Given the description of an element on the screen output the (x, y) to click on. 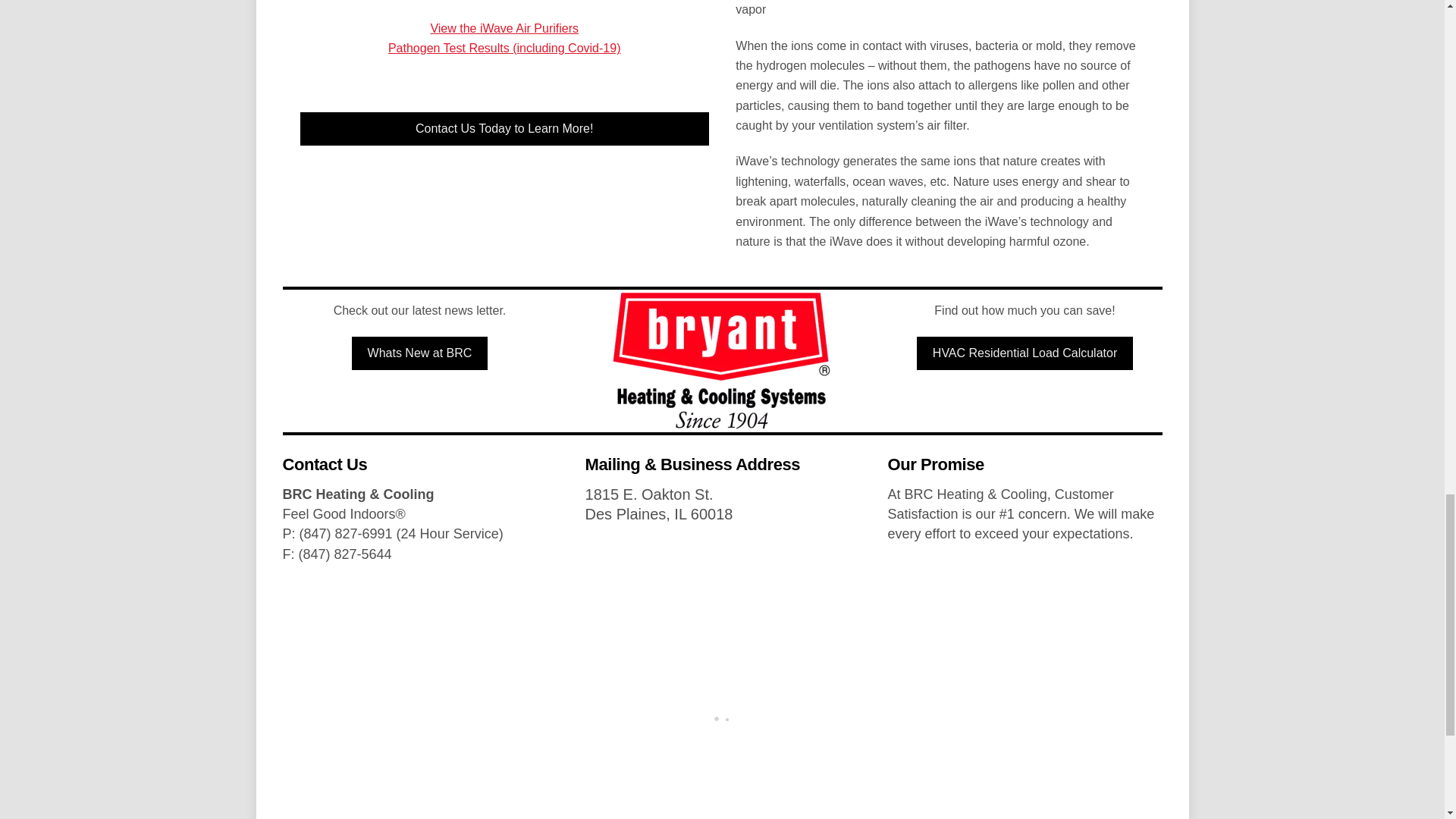
Whats New at BRC (419, 353)
Contact Us Today to Learn More! (504, 128)
bryant-heating-cooling-logo (721, 360)
HVAC Residential Load Calculator (1024, 353)
